Given the description of an element on the screen output the (x, y) to click on. 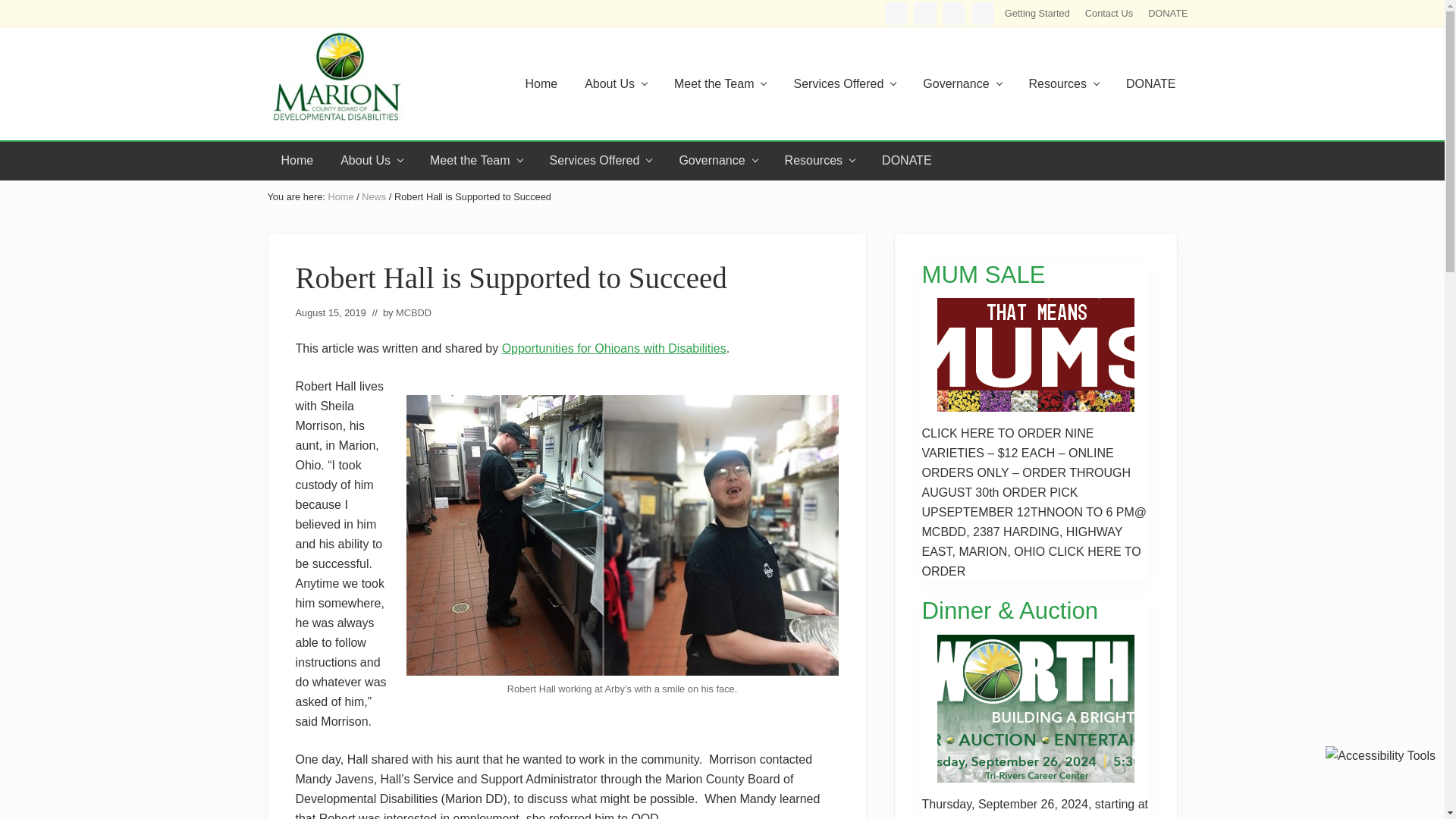
Facebook (896, 13)
Facebook (895, 13)
Home (540, 84)
Instagram (924, 13)
Twitter (982, 13)
Getting Started (1037, 13)
Meet the Team (720, 84)
Twitter (982, 13)
DONATE (1167, 13)
